Given the description of an element on the screen output the (x, y) to click on. 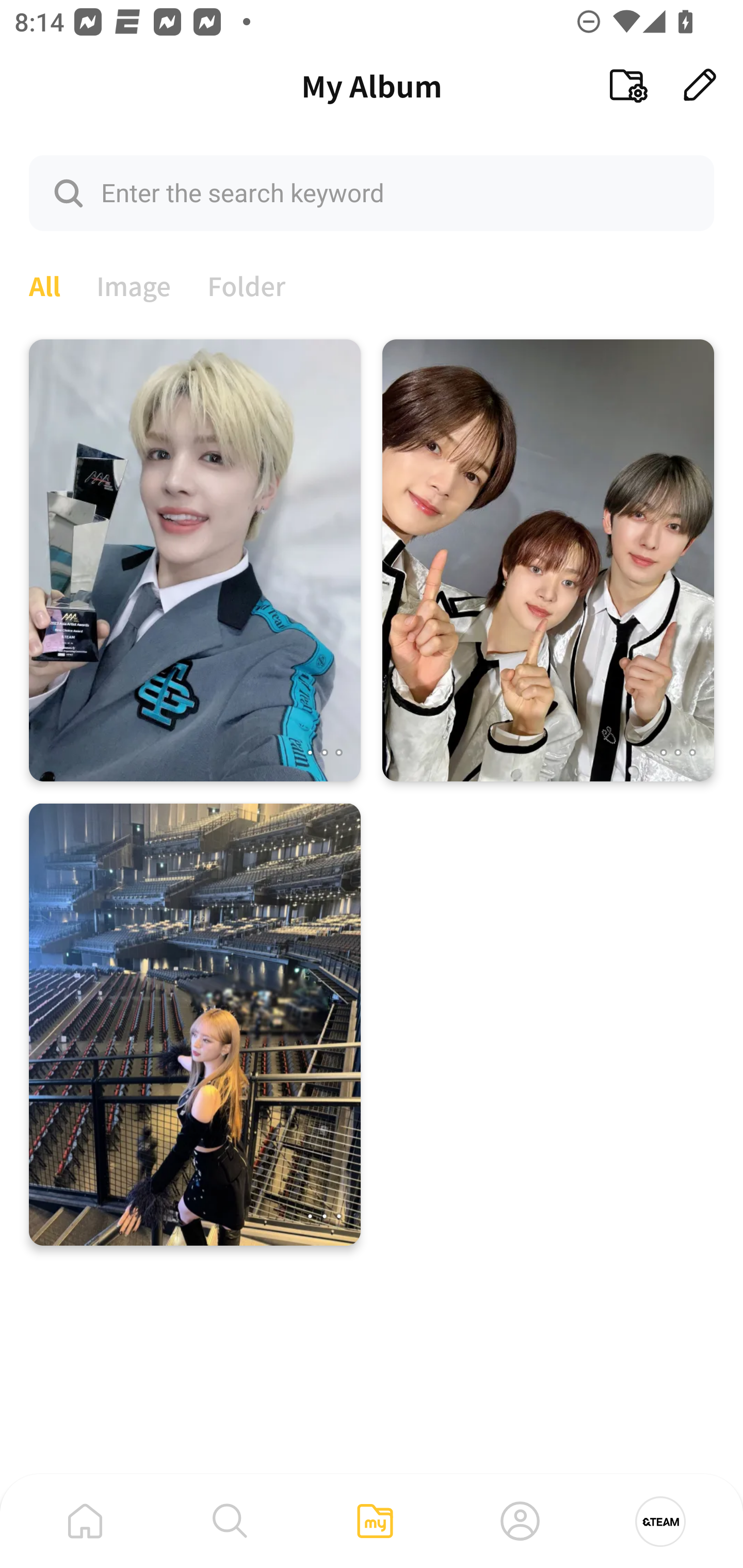
Enter the search keyword (371, 192)
All (44, 284)
Image (133, 284)
Folder (246, 284)
